Given the description of an element on the screen output the (x, y) to click on. 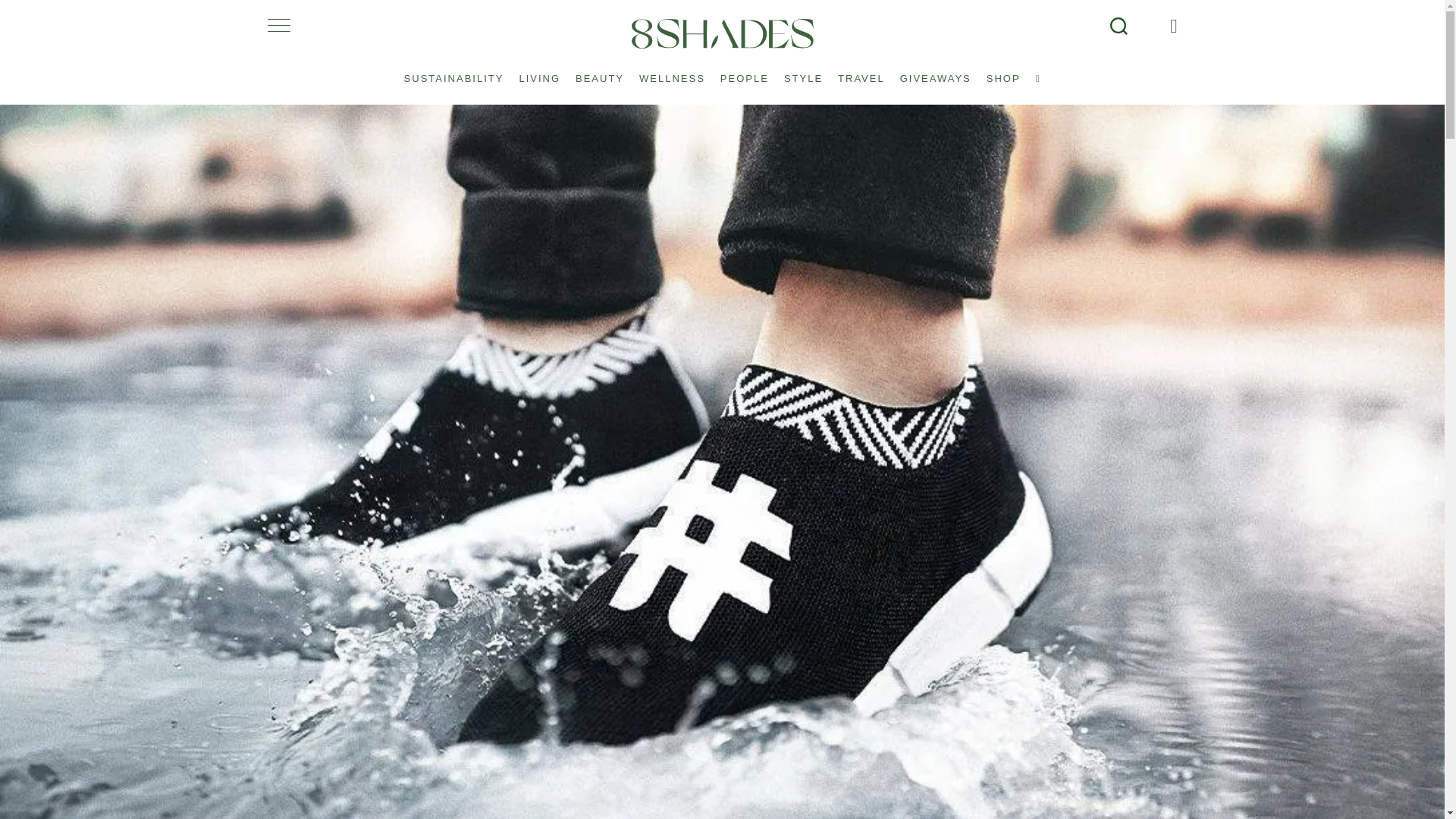
WELLNESS (672, 71)
GIVEAWAYS (935, 71)
PEOPLE (744, 71)
TRAVEL (860, 71)
SUSTAINABILITY (454, 71)
STYLE (802, 71)
SHOP (1002, 71)
BEAUTY (599, 71)
LIVING (539, 71)
